Given the description of an element on the screen output the (x, y) to click on. 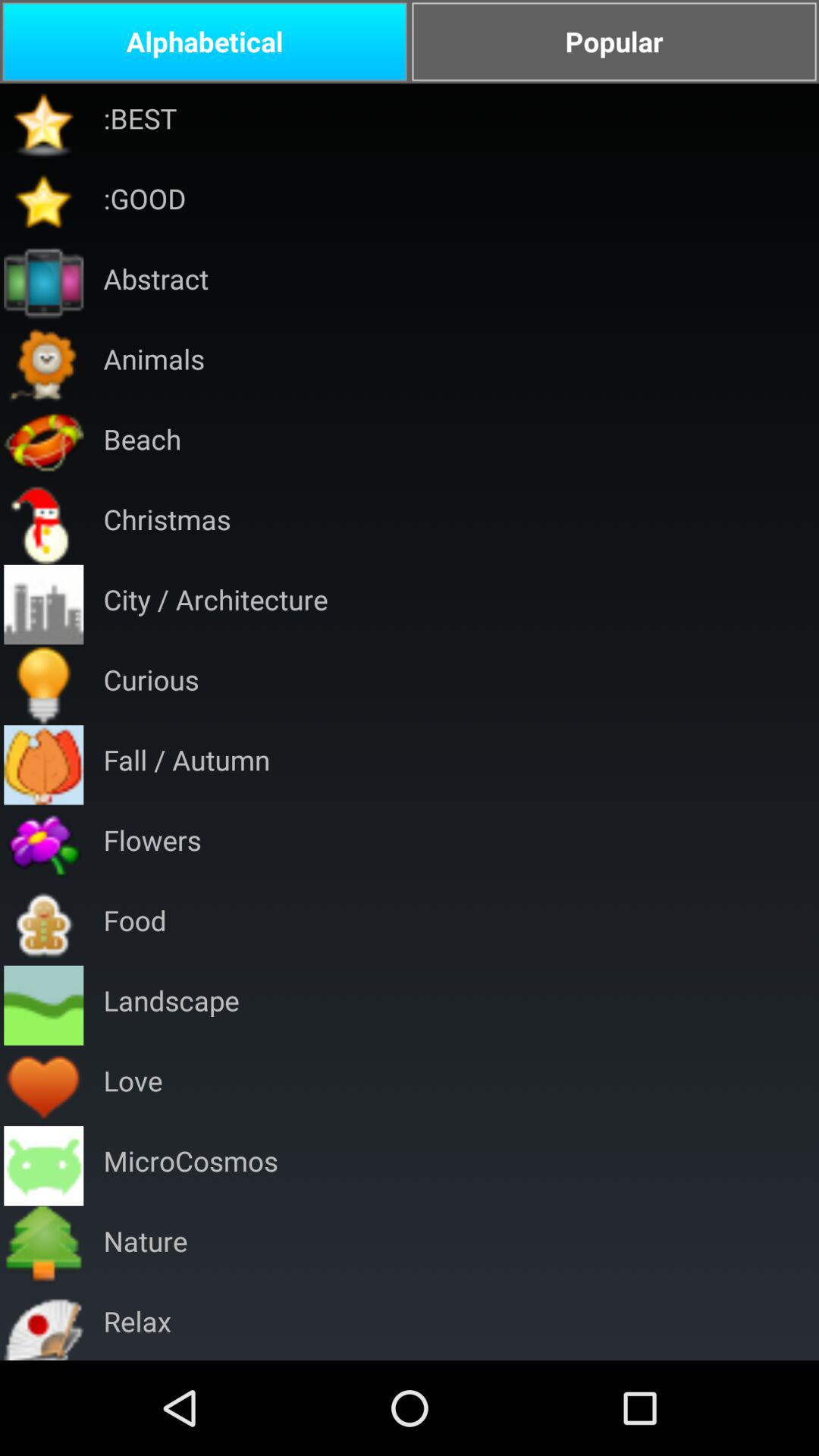
click icon below the alphabetical icon (139, 123)
